Given the description of an element on the screen output the (x, y) to click on. 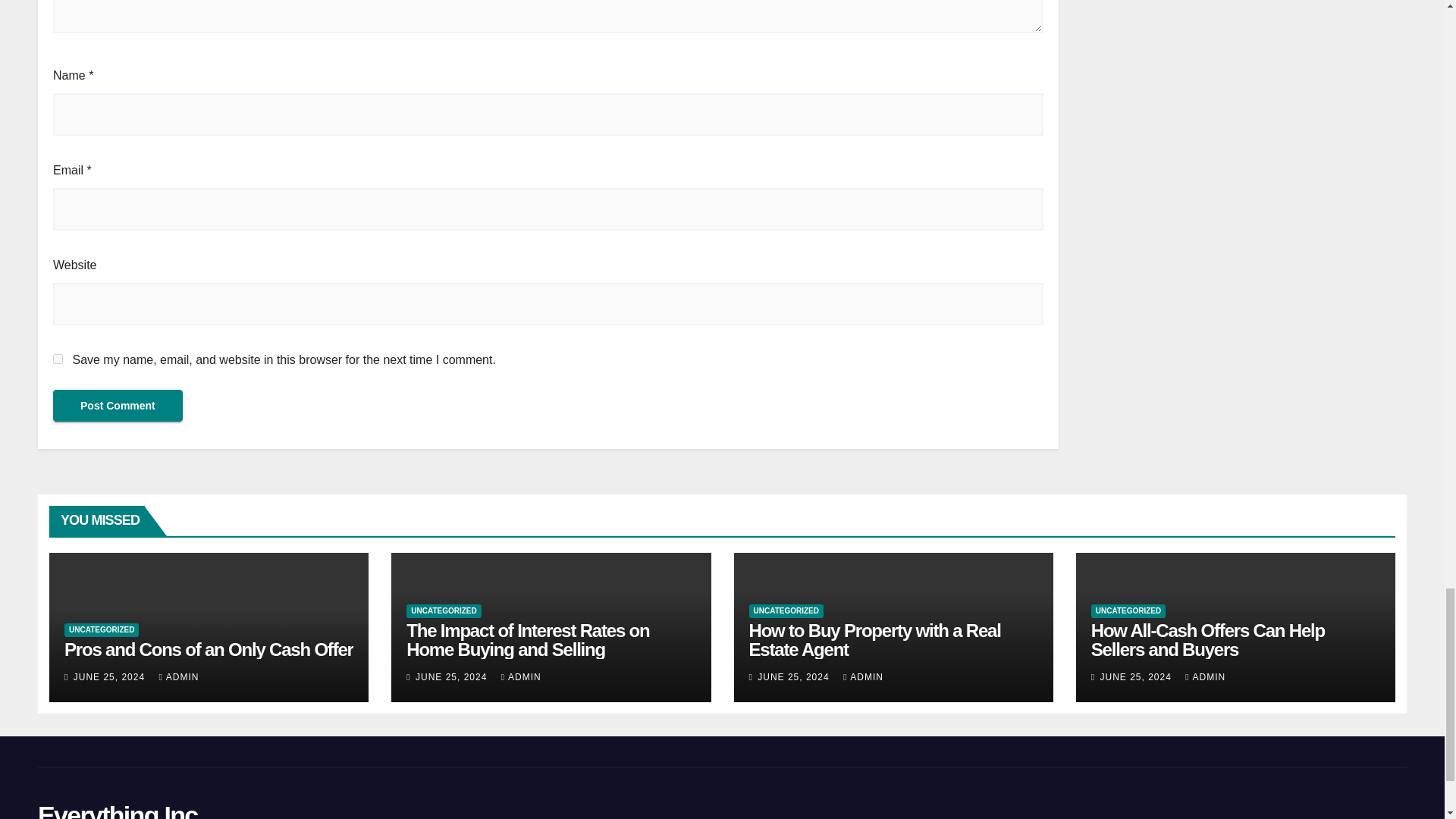
Post Comment (117, 405)
yes (57, 358)
